Given the description of an element on the screen output the (x, y) to click on. 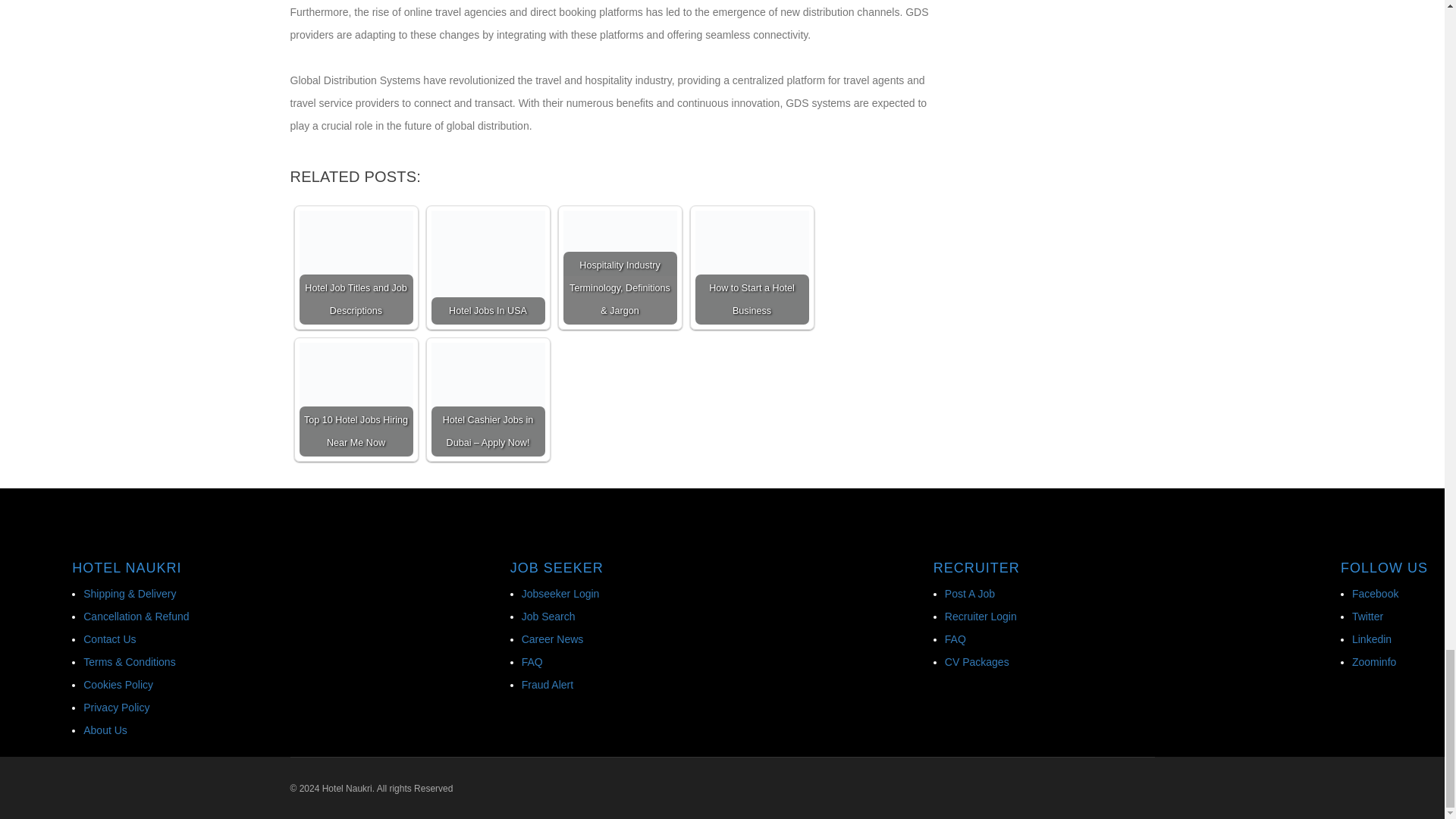
Top 10 Hotel Jobs Hiring Near Me Now (355, 399)
Hotel Jobs In USA (487, 267)
Hotel Job Titles and Job Descriptions (355, 267)
Top 10 Hotel Jobs Hiring Near Me Now (355, 399)
Cookies Policy (117, 684)
How to Start a Hotel Business (751, 267)
How to Start a Hotel Business (751, 267)
Hotel Jobs In USA (487, 267)
Hotel Job Titles and Job Descriptions (355, 243)
Contact Us (108, 639)
